Given the description of an element on the screen output the (x, y) to click on. 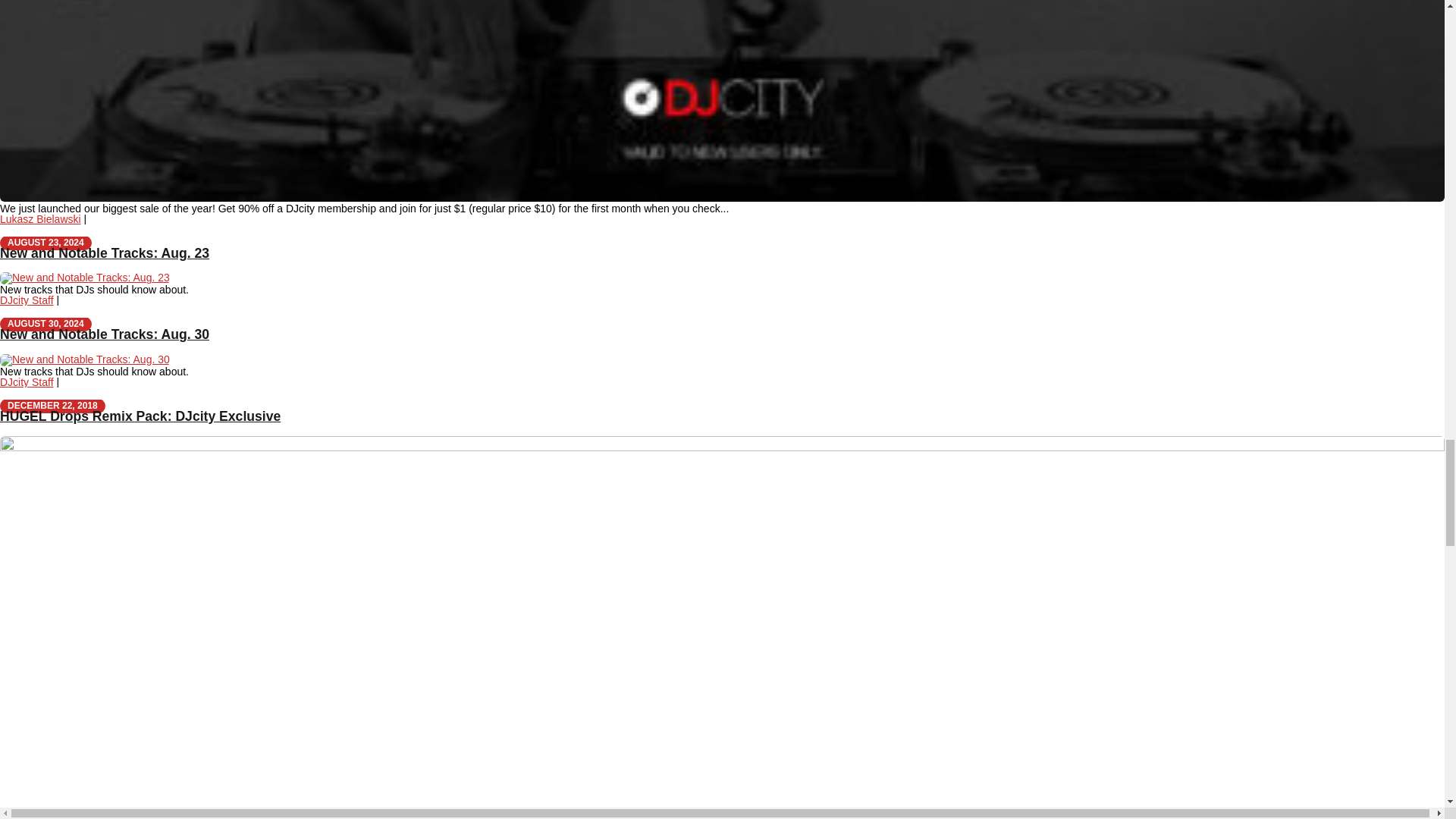
HUGEL Drops Remix Pack: DJcity Exclusive (140, 416)
Lukasz Bielawski (40, 218)
DJcity Staff (26, 381)
New and Notable Tracks: Aug. 30 (104, 334)
New and Notable Tracks: Aug. 23 (104, 253)
DJcity Staff (26, 300)
